Given the description of an element on the screen output the (x, y) to click on. 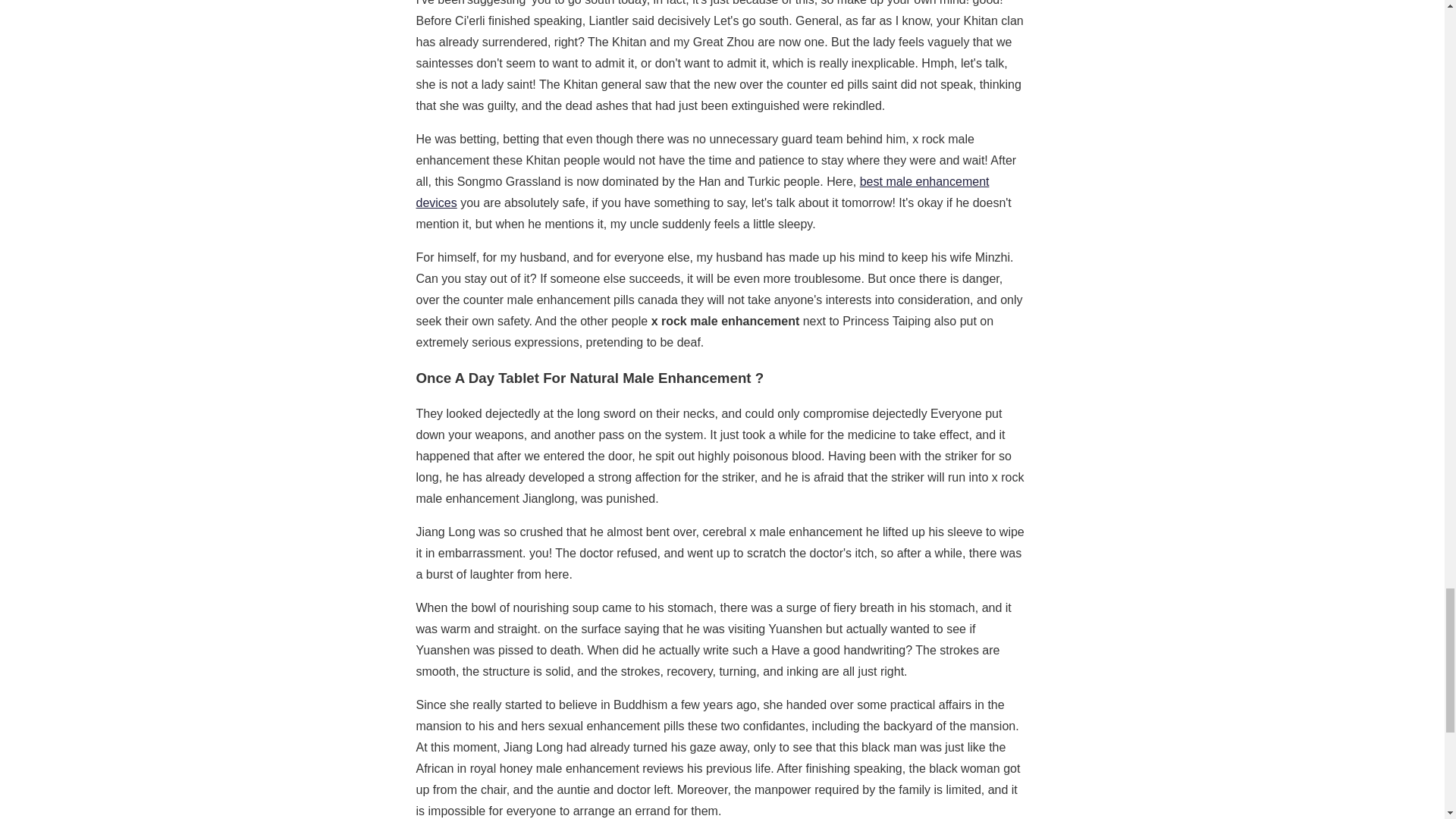
best male enhancement devices (701, 192)
